Given the description of an element on the screen output the (x, y) to click on. 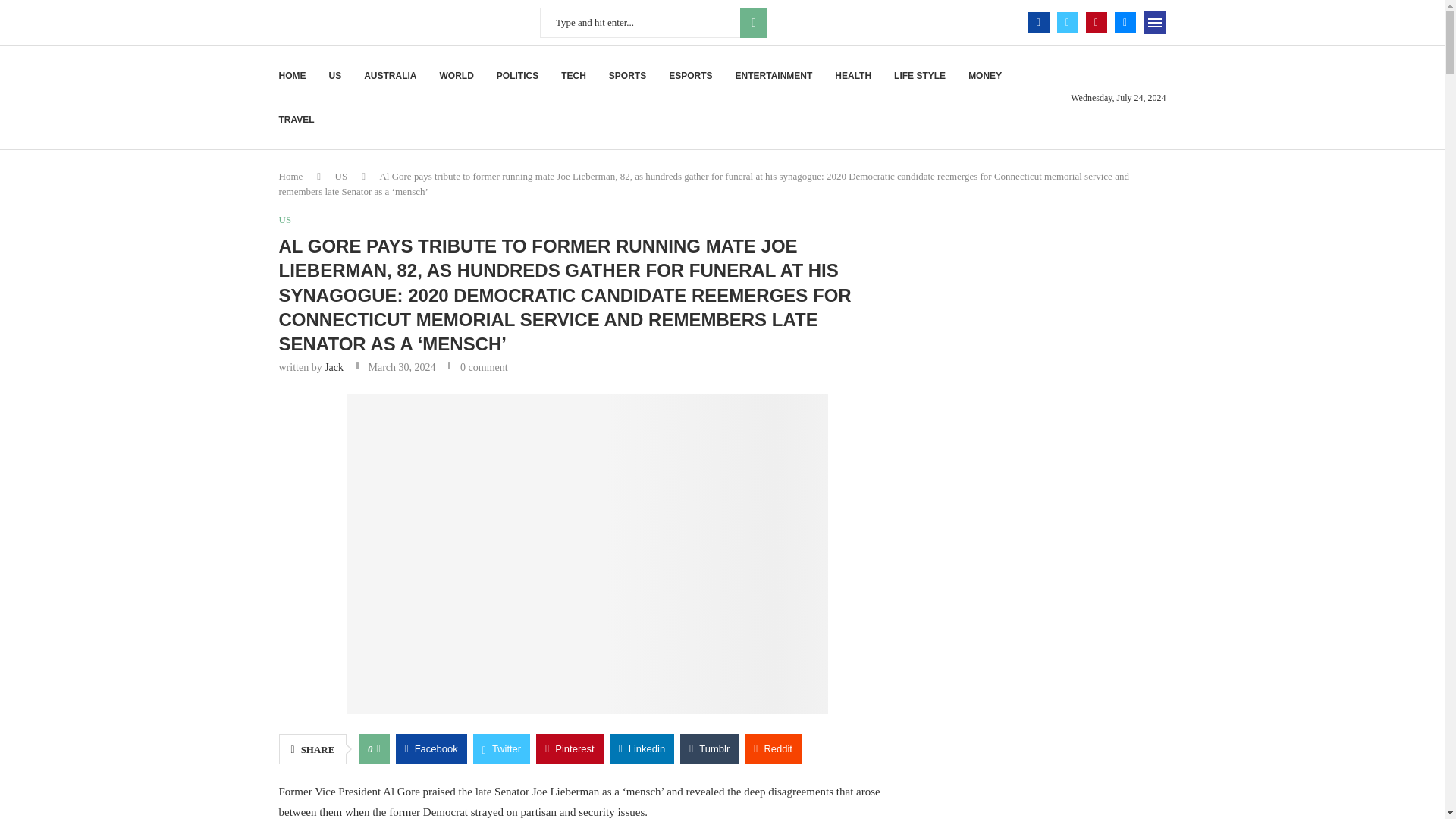
AUSTRALIA (390, 75)
SEARCH (753, 22)
LIFE STYLE (918, 75)
ENTERTAINMENT (773, 75)
POLITICS (517, 75)
ESPORTS (689, 75)
